Given the description of an element on the screen output the (x, y) to click on. 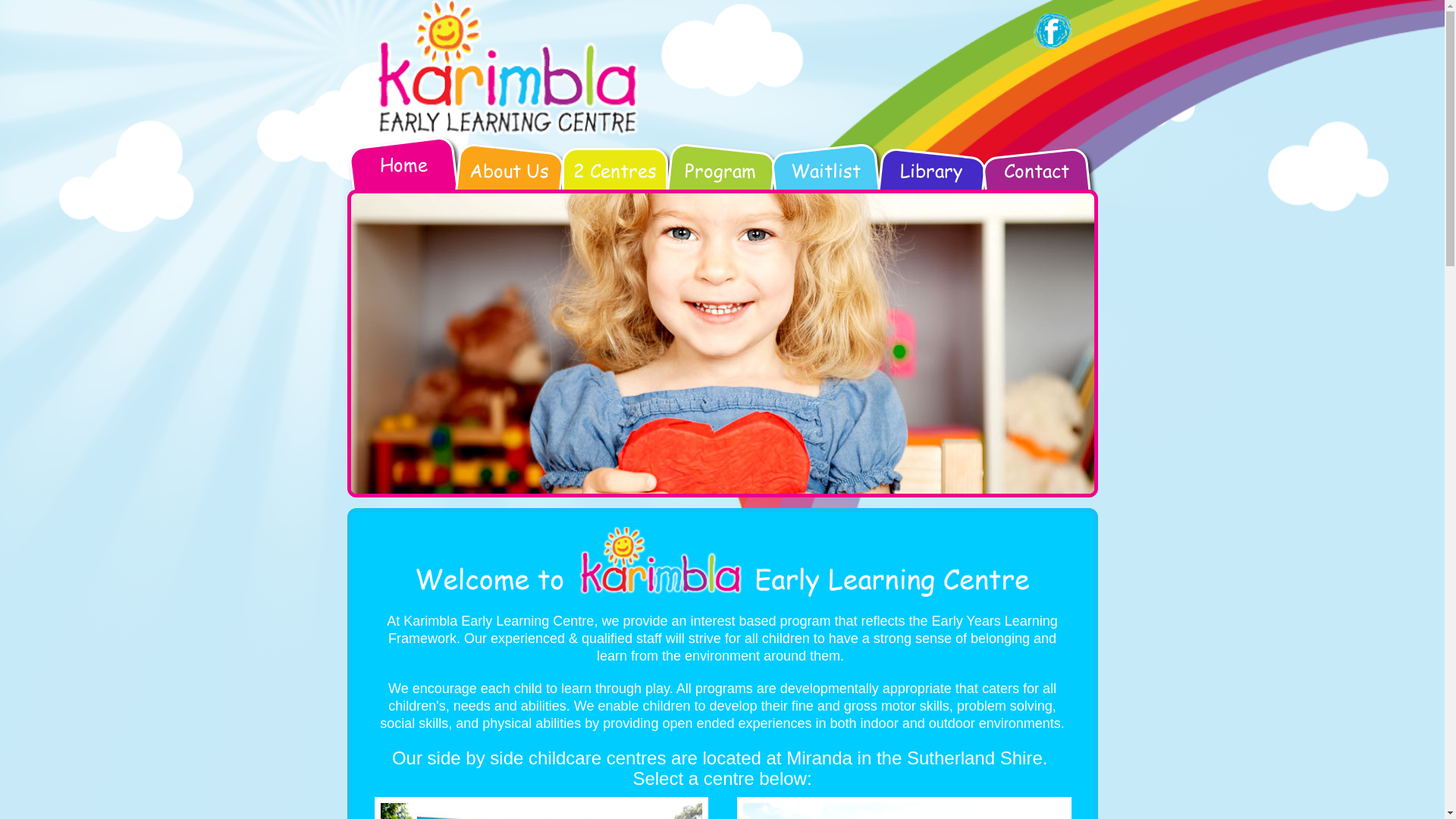
Contact Element type: text (1036, 180)
Waitlist Element type: text (825, 180)
2 Centres Element type: text (614, 180)
Home Element type: text (402, 174)
Library Element type: text (930, 180)
About Us Element type: text (508, 180)
Program Element type: text (719, 180)
